Given the description of an element on the screen output the (x, y) to click on. 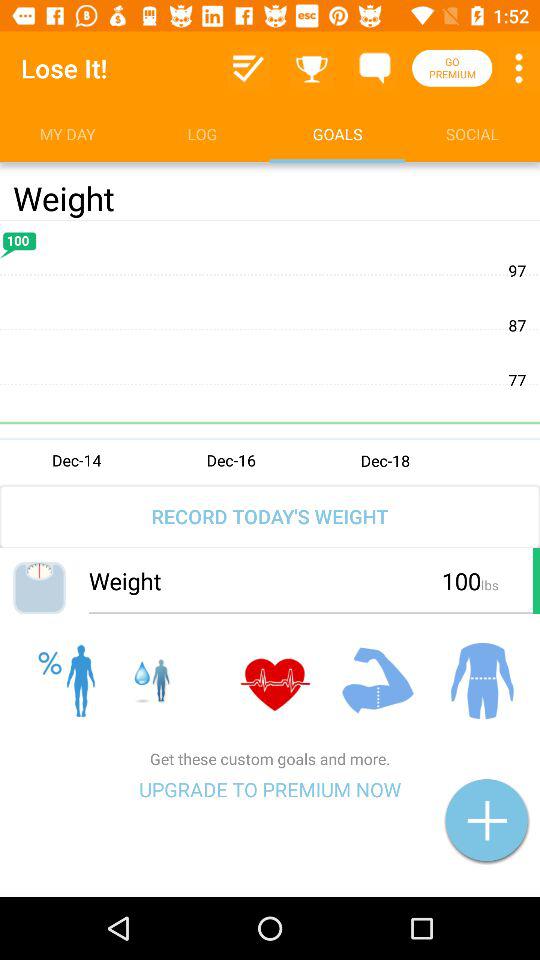
tap the item next to lose it! (248, 67)
